Given the description of an element on the screen output the (x, y) to click on. 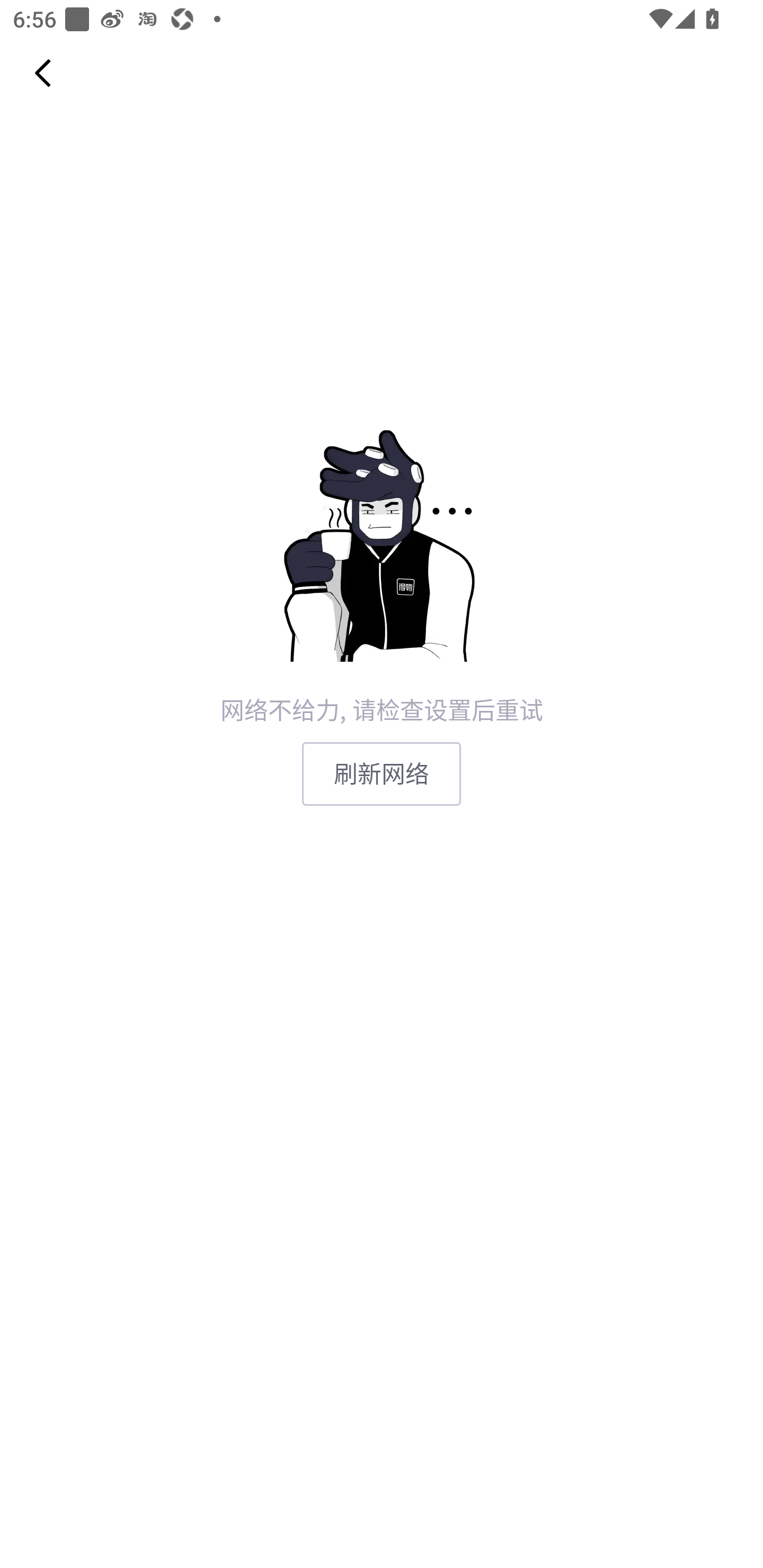
刷新网络 (381, 773)
